Given the description of an element on the screen output the (x, y) to click on. 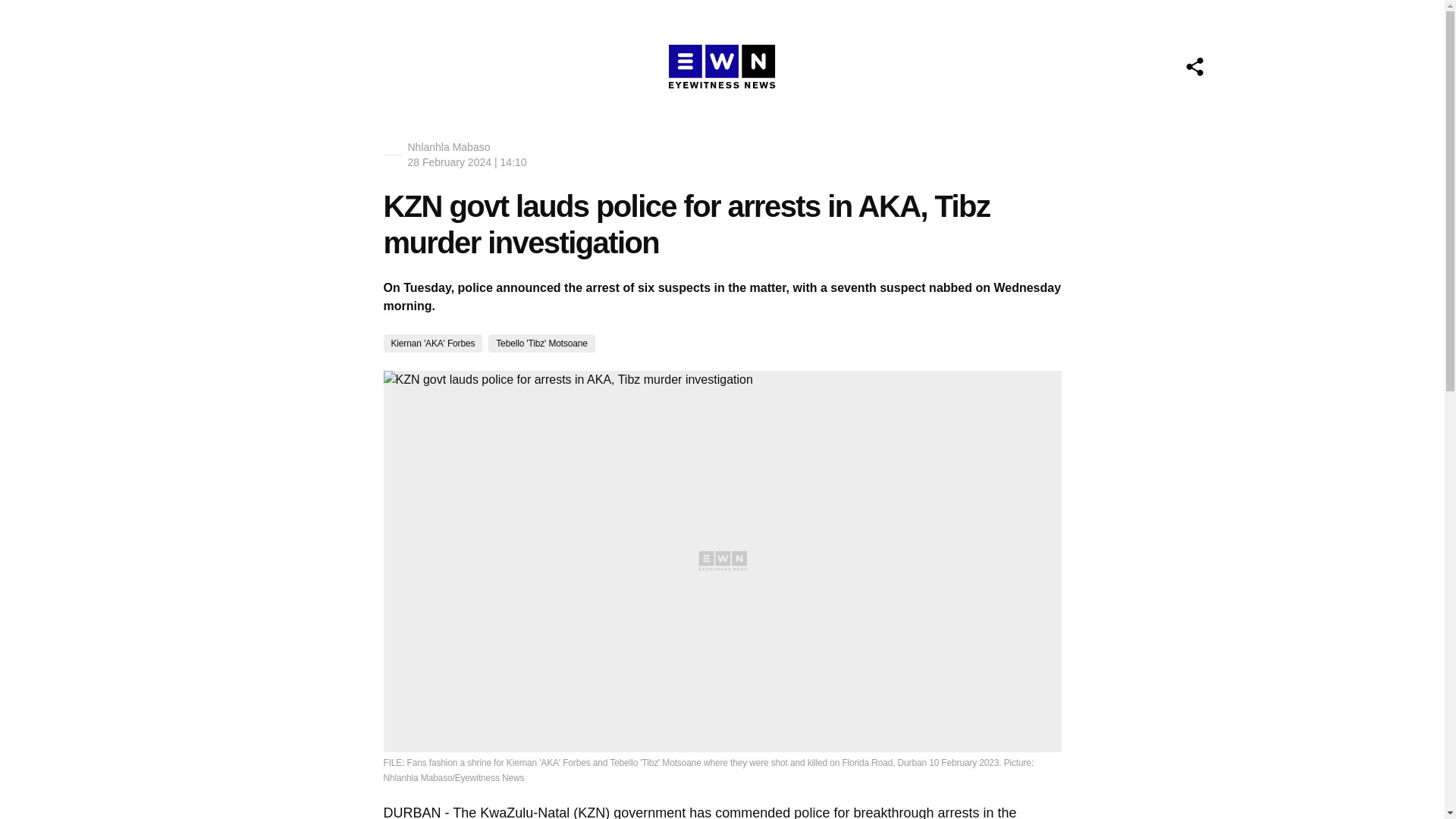
Tebello 'Tibz' Motsoane (541, 343)
Kiernan 'AKA' Forbes (433, 343)
